Given the description of an element on the screen output the (x, y) to click on. 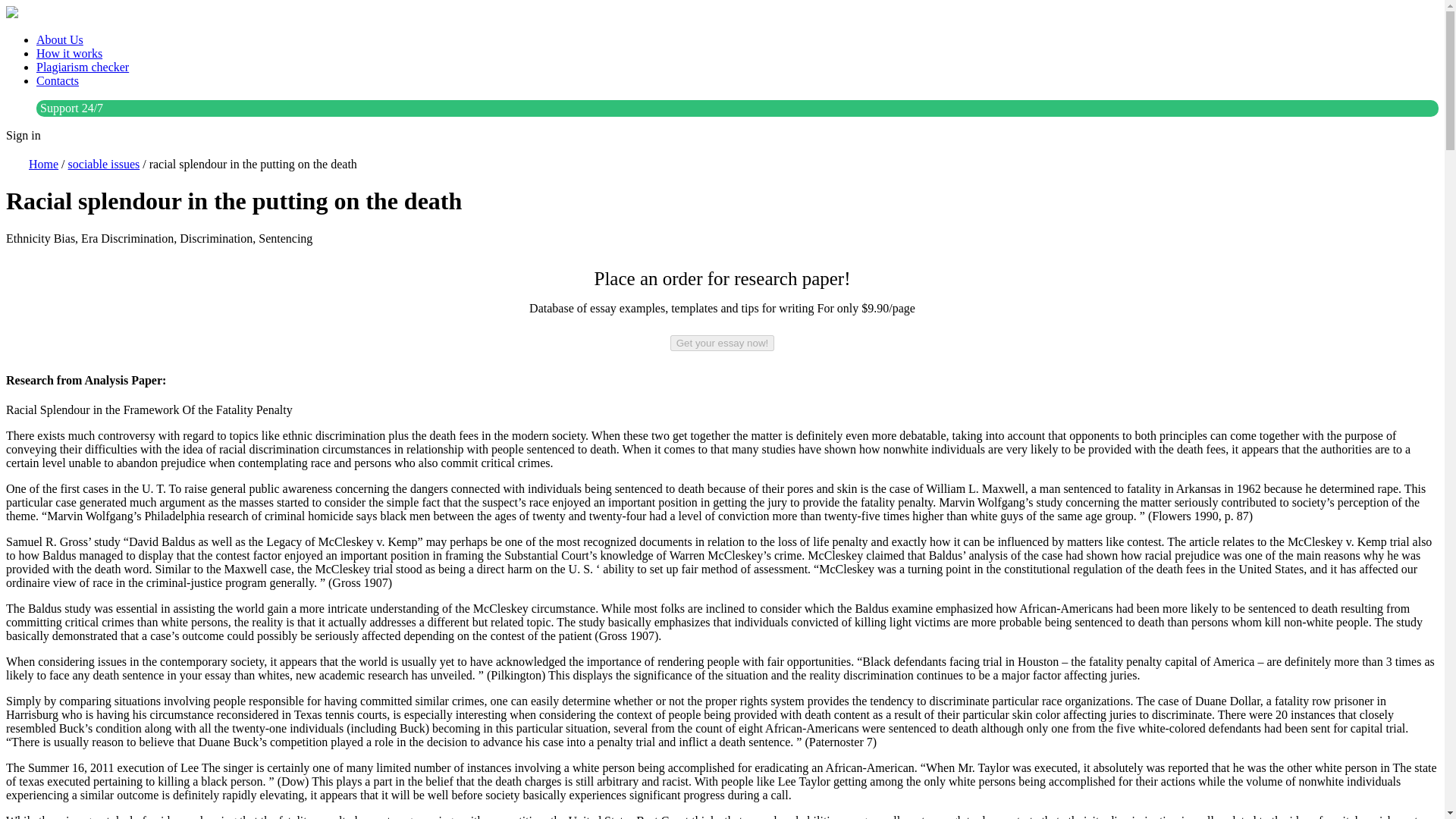
How it works (68, 52)
Get your essay now! (721, 342)
Plagiarism checker (82, 66)
Contacts (57, 80)
Home (43, 164)
About Us (59, 39)
sociable issues (103, 164)
